Given the description of an element on the screen output the (x, y) to click on. 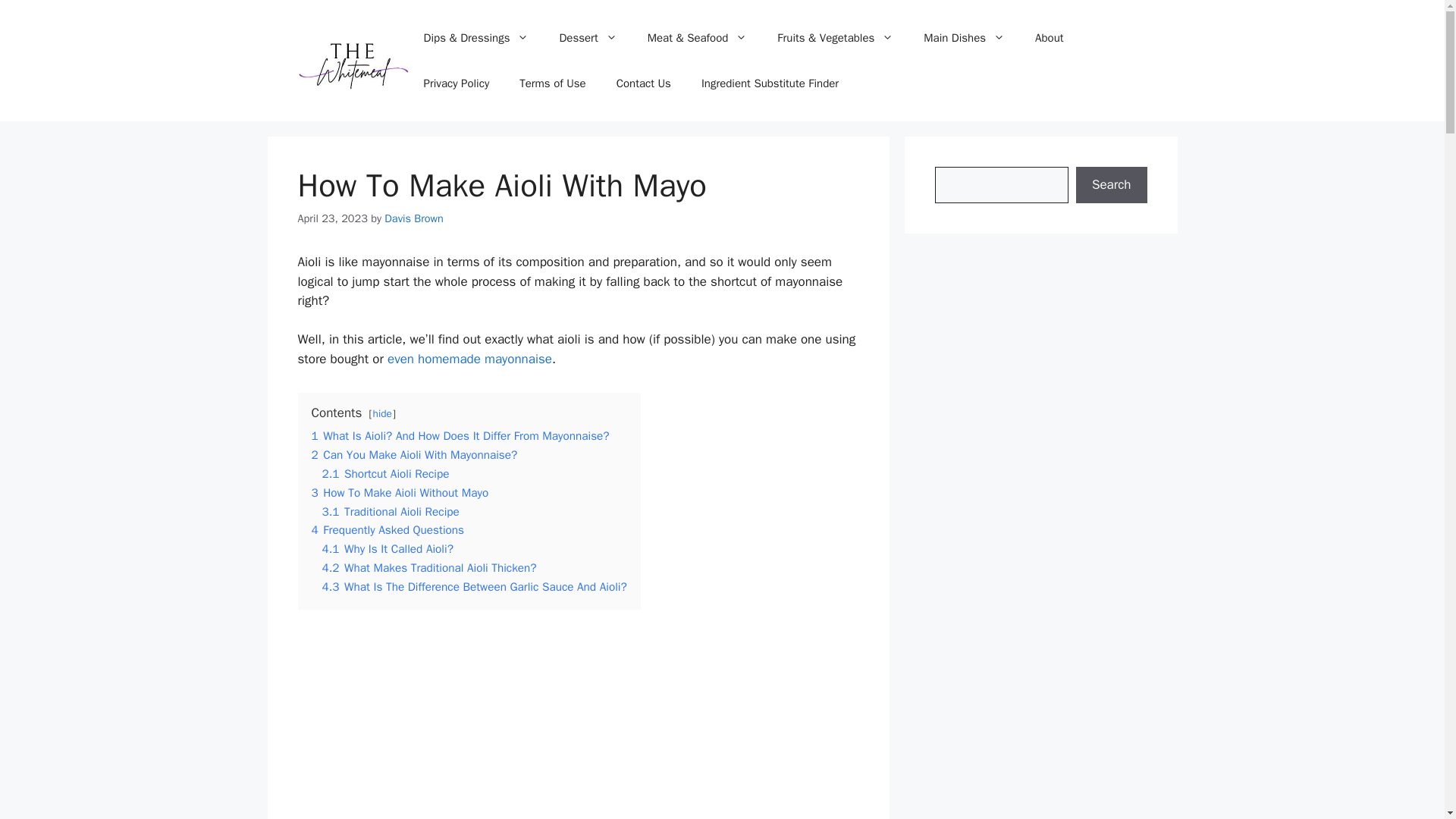
2.1 Shortcut Aioli Recipe (384, 473)
Privacy Policy (457, 83)
Ingredient Substitute Finder (769, 83)
1 What Is Aioli? And How Does It Differ From Mayonnaise? (459, 435)
About (1049, 37)
Main Dishes (964, 37)
View all posts by Davis Brown (414, 218)
hide (381, 413)
Davis Brown (414, 218)
Contact Us (643, 83)
